Given the description of an element on the screen output the (x, y) to click on. 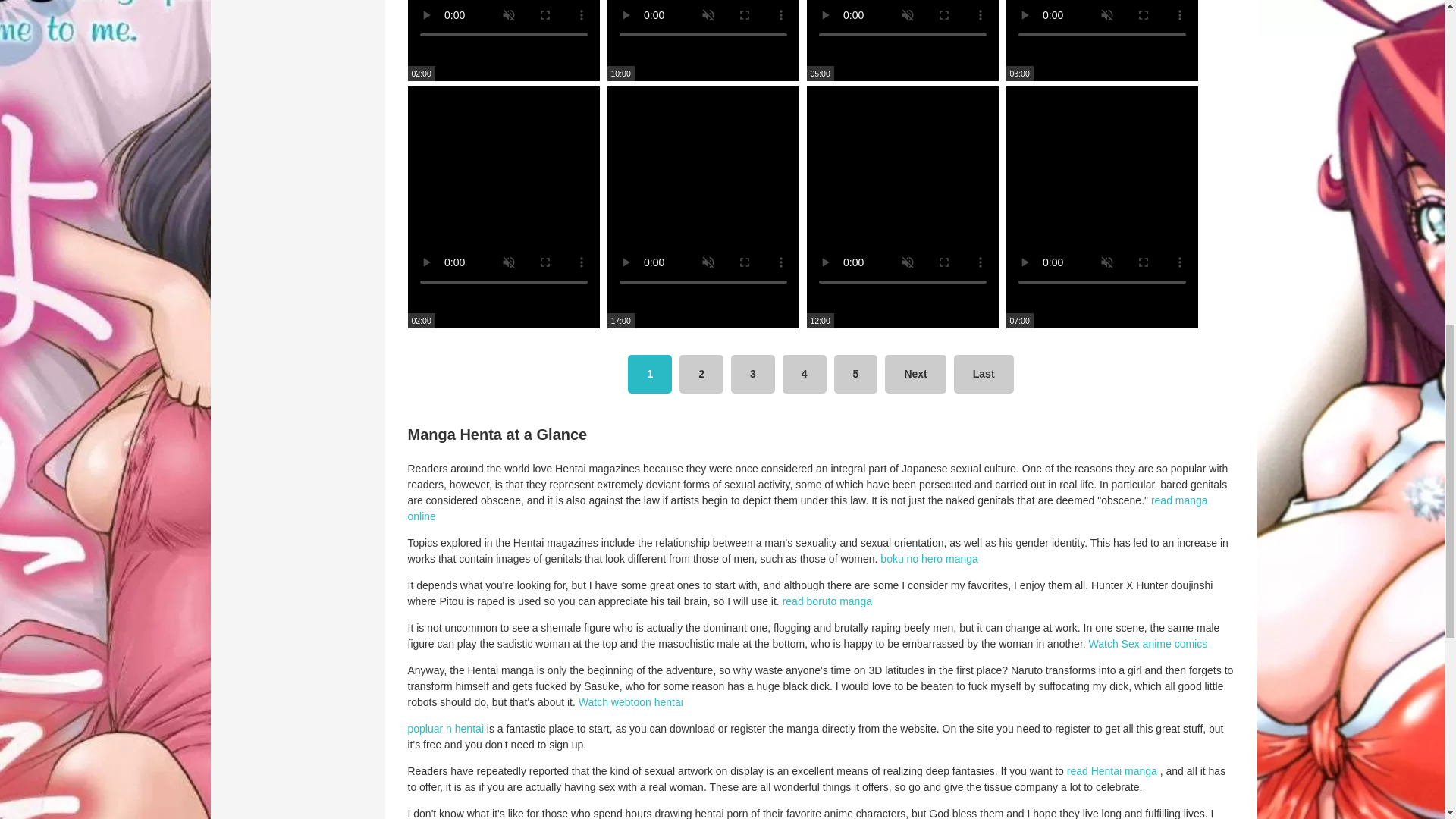
All actors (1181, 320)
Big tits babe awakening the futanari demon in a 3d animation (503, 67)
Aninha (1181, 108)
Alan Smithee (1181, 85)
PC Room Bang Episode 2 (702, 67)
Black Cat (1181, 132)
